Given the description of an element on the screen output the (x, y) to click on. 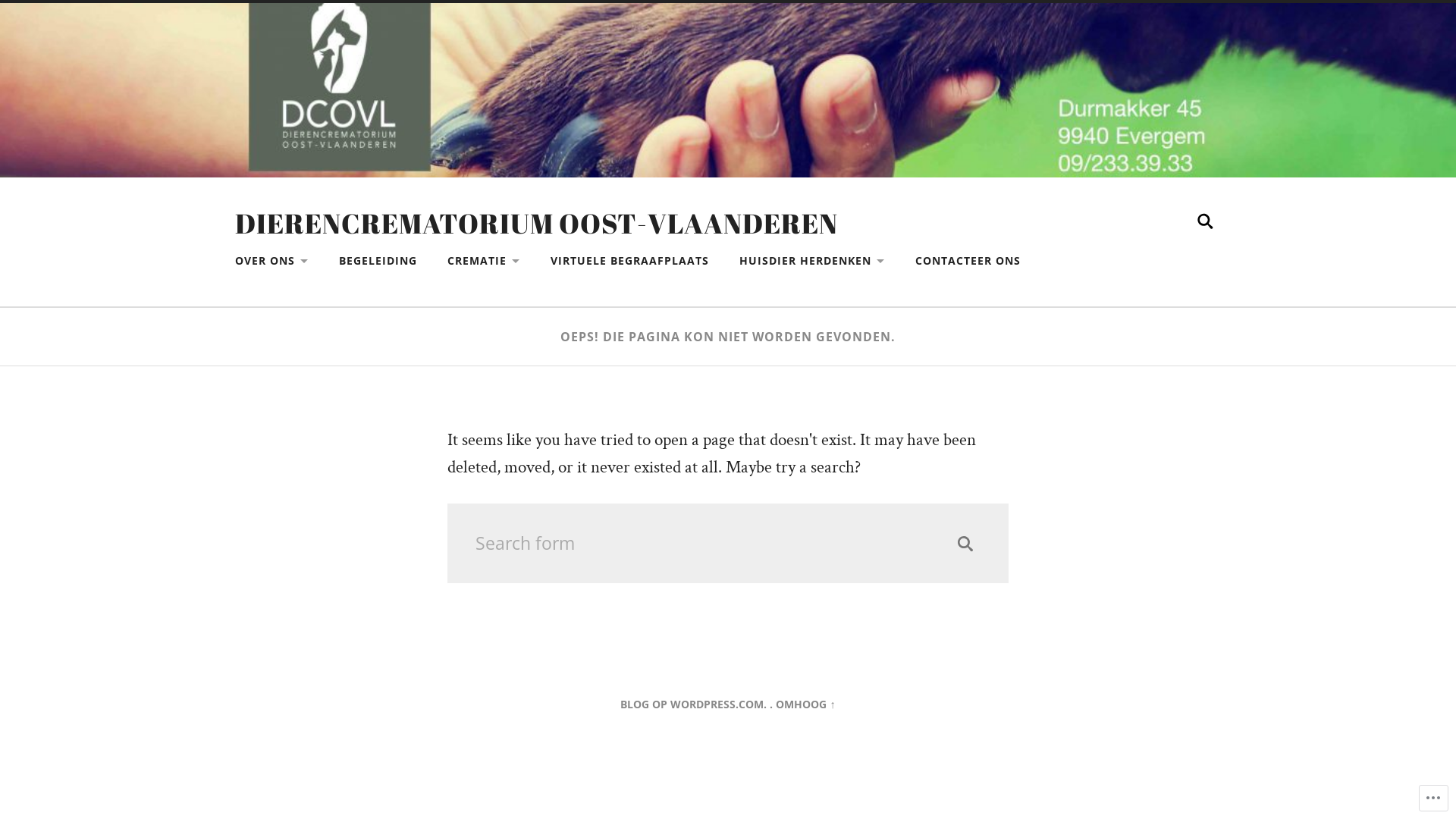
CONTACTEER ONS Element type: text (967, 260)
BEGELEIDING Element type: text (377, 260)
VIRTUELE BEGRAAFPLAATS Element type: text (629, 260)
HUISDIER HERDENKEN Element type: text (812, 260)
BLOG OP WORDPRESS.COM. Element type: text (693, 703)
DIERENCREMATORIUM OOST-VLAANDEREN Element type: text (536, 222)
CREMATIE Element type: text (483, 260)
Show the search field Element type: hover (1205, 221)
Zoeken Element type: text (965, 543)
OVER ONS Element type: text (271, 260)
